Given the description of an element on the screen output the (x, y) to click on. 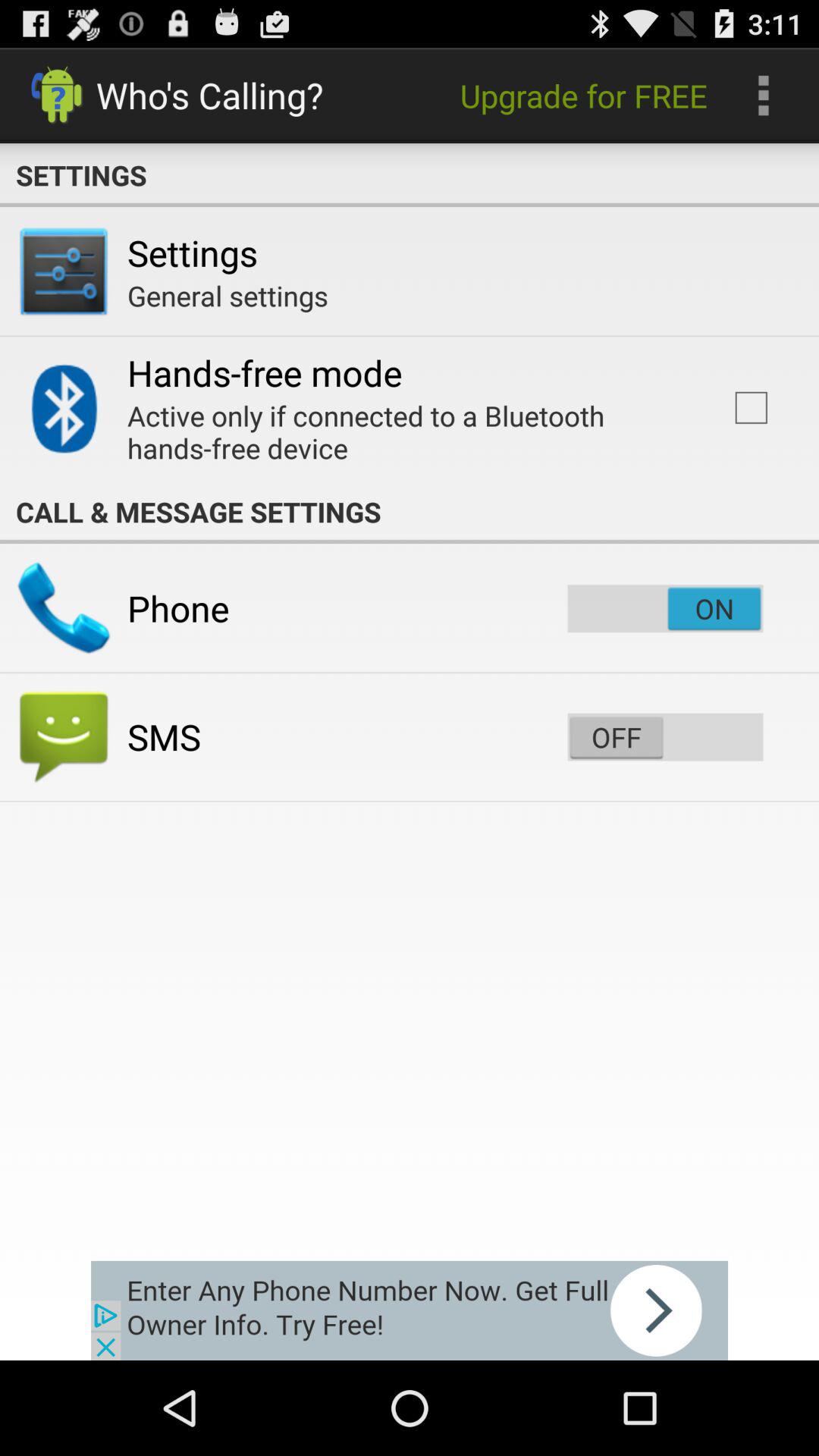
phone on of button (665, 608)
